Given the description of an element on the screen output the (x, y) to click on. 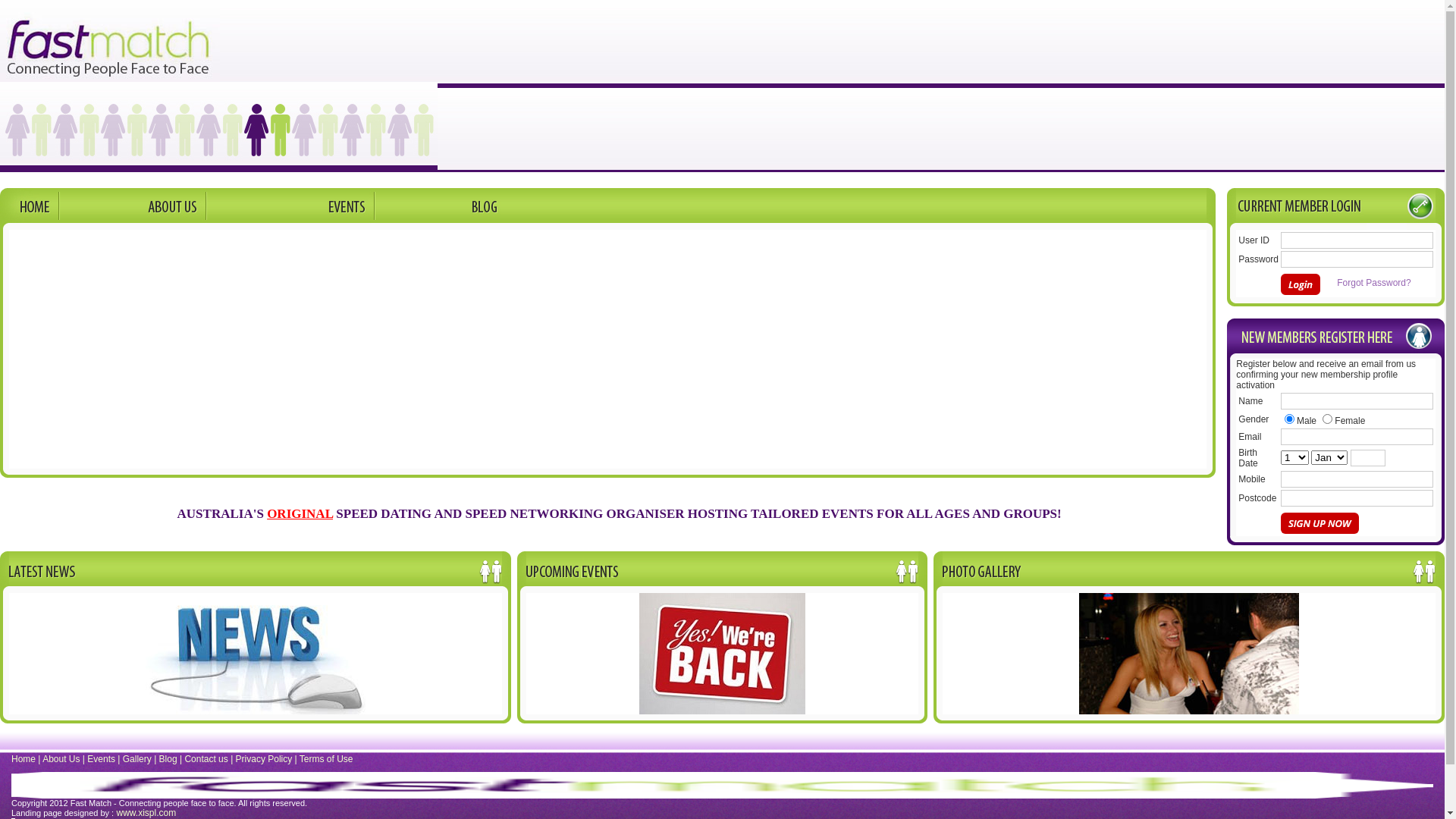
Home Element type: text (23, 749)
Forgot Password? Element type: text (1373, 282)
www.xispl.com Element type: text (146, 803)
Events Element type: text (101, 749)
About Us Element type: text (60, 749)
Terms of Use Element type: text (326, 749)
Blog Element type: text (168, 749)
Privacy Policy Element type: text (263, 749)
Contact us Element type: text (205, 749)
Gallery Element type: text (136, 749)
